Given the description of an element on the screen output the (x, y) to click on. 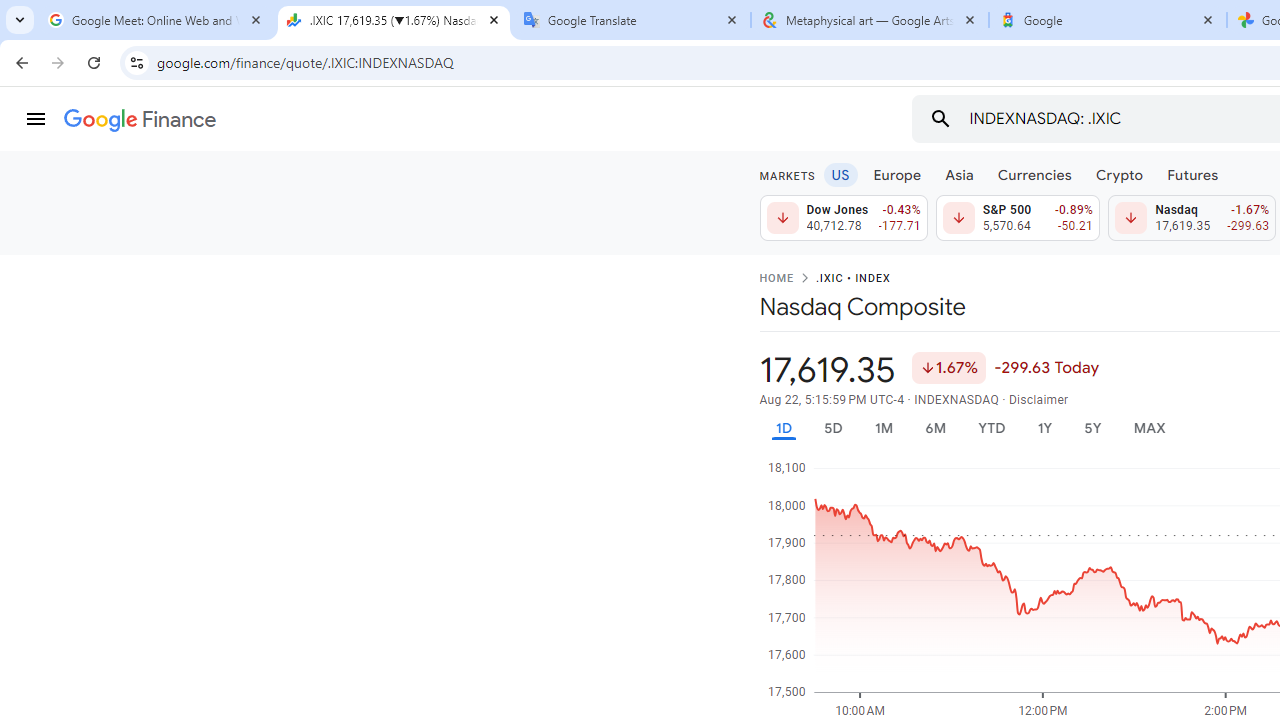
Nasdaq 17,619.35 Down by 1.67% -299.63 (1192, 218)
Disclaimer (1038, 399)
Google Translate (632, 20)
US (840, 174)
Google (1108, 20)
Finance (140, 120)
MAX (1149, 427)
6M (934, 427)
